Given the description of an element on the screen output the (x, y) to click on. 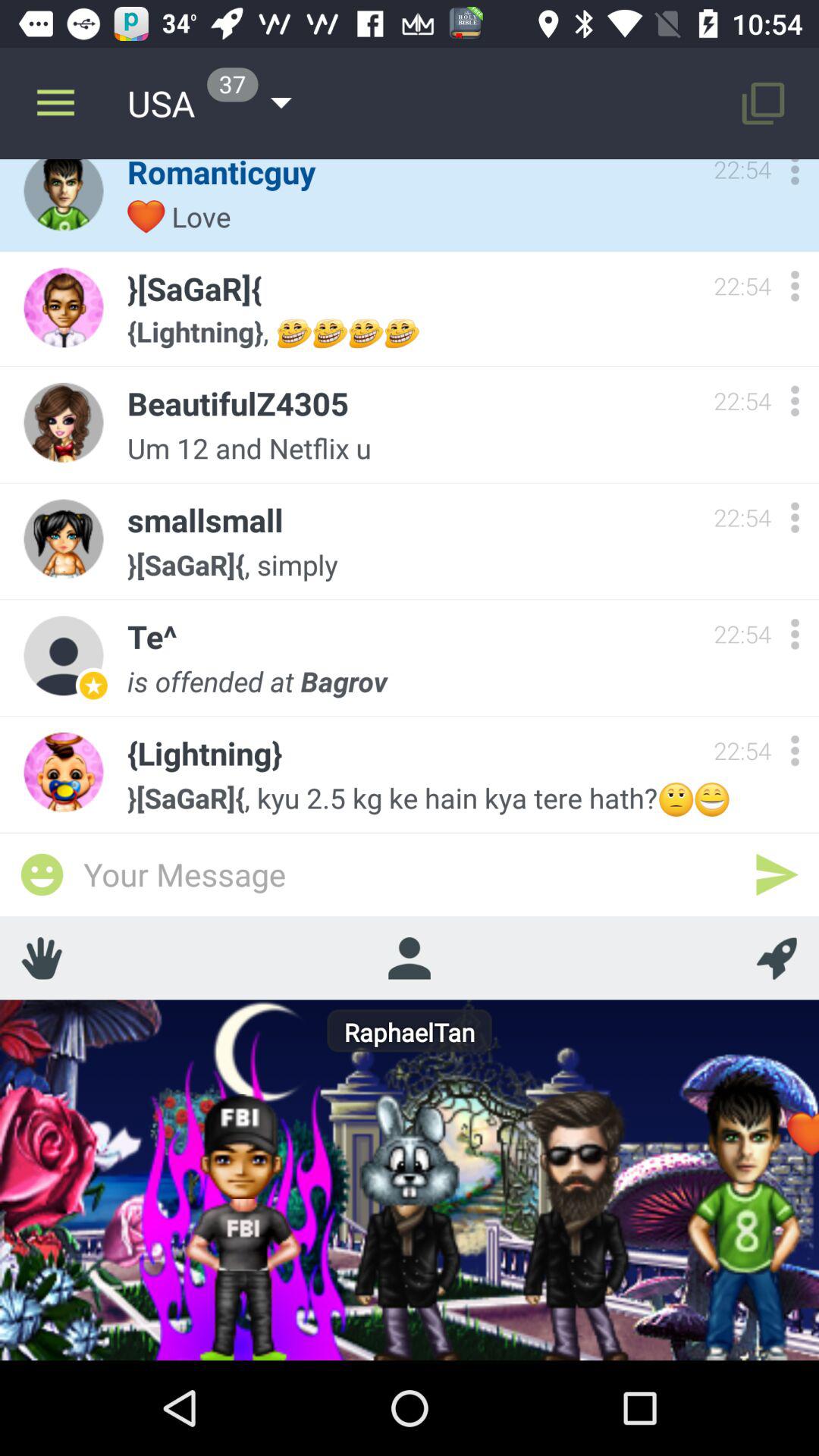
go to options (795, 400)
